Given the description of an element on the screen output the (x, y) to click on. 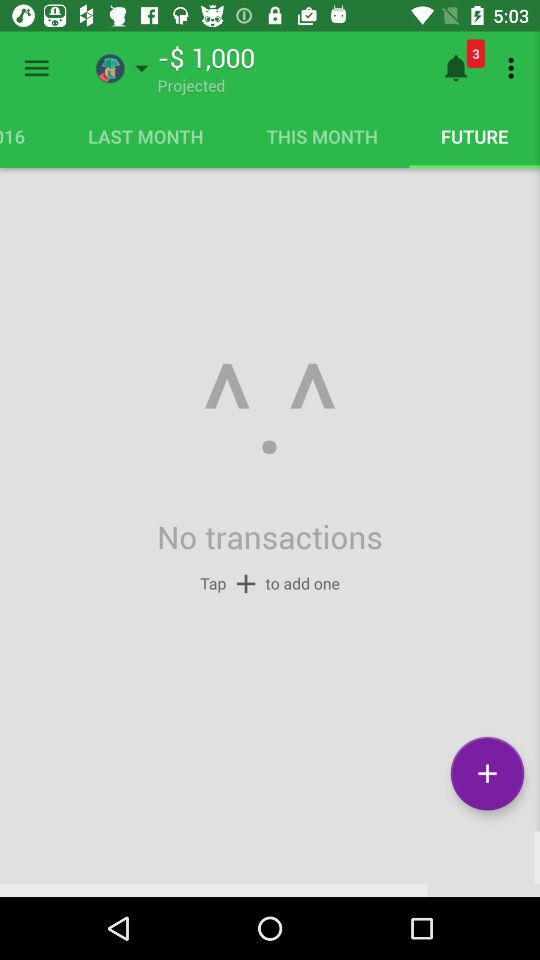
menu (36, 68)
